Given the description of an element on the screen output the (x, y) to click on. 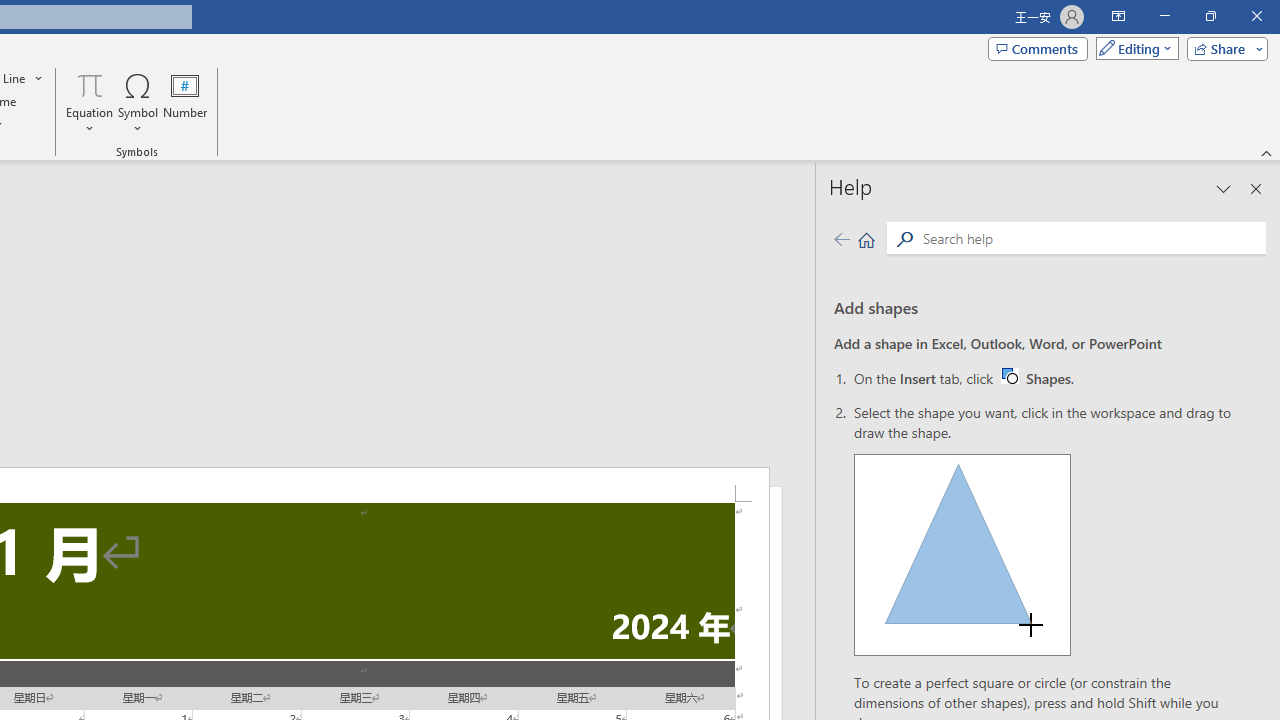
Home (866, 238)
Word W32 Shapes button icon (1009, 375)
Previous page (841, 238)
Close pane (1256, 188)
Drawing a shape (962, 554)
Mode (1133, 47)
Minimize (1164, 16)
Close (1256, 16)
Restore Down (1210, 16)
Share (1223, 48)
Symbol (138, 102)
Collapse the Ribbon (1044, 377)
